Given the description of an element on the screen output the (x, y) to click on. 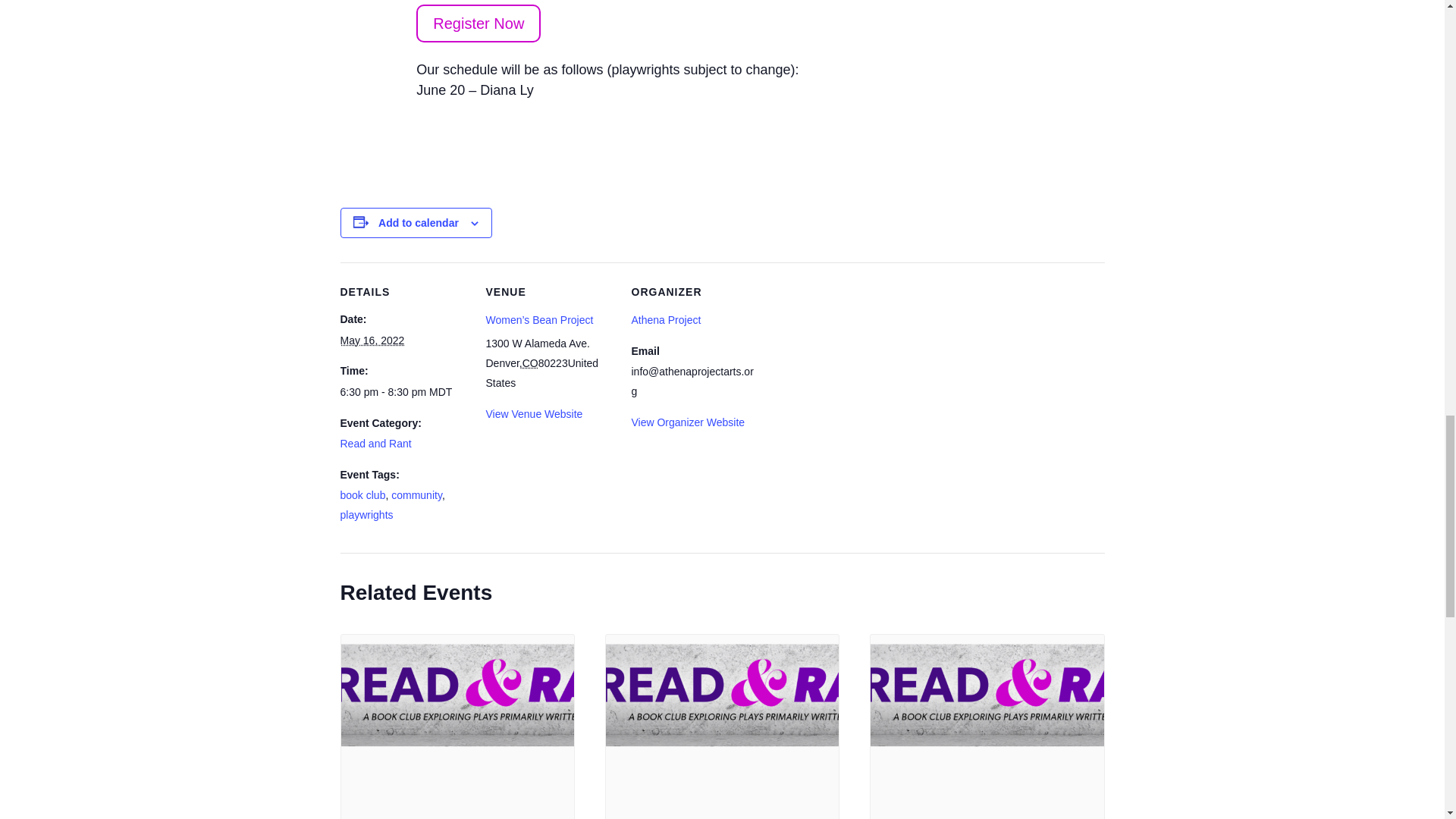
Register Now (478, 23)
Add to calendar (418, 223)
2022-05-16 (371, 340)
Athena Project (665, 319)
2022-05-16 (403, 392)
Colorado (530, 363)
